Given the description of an element on the screen output the (x, y) to click on. 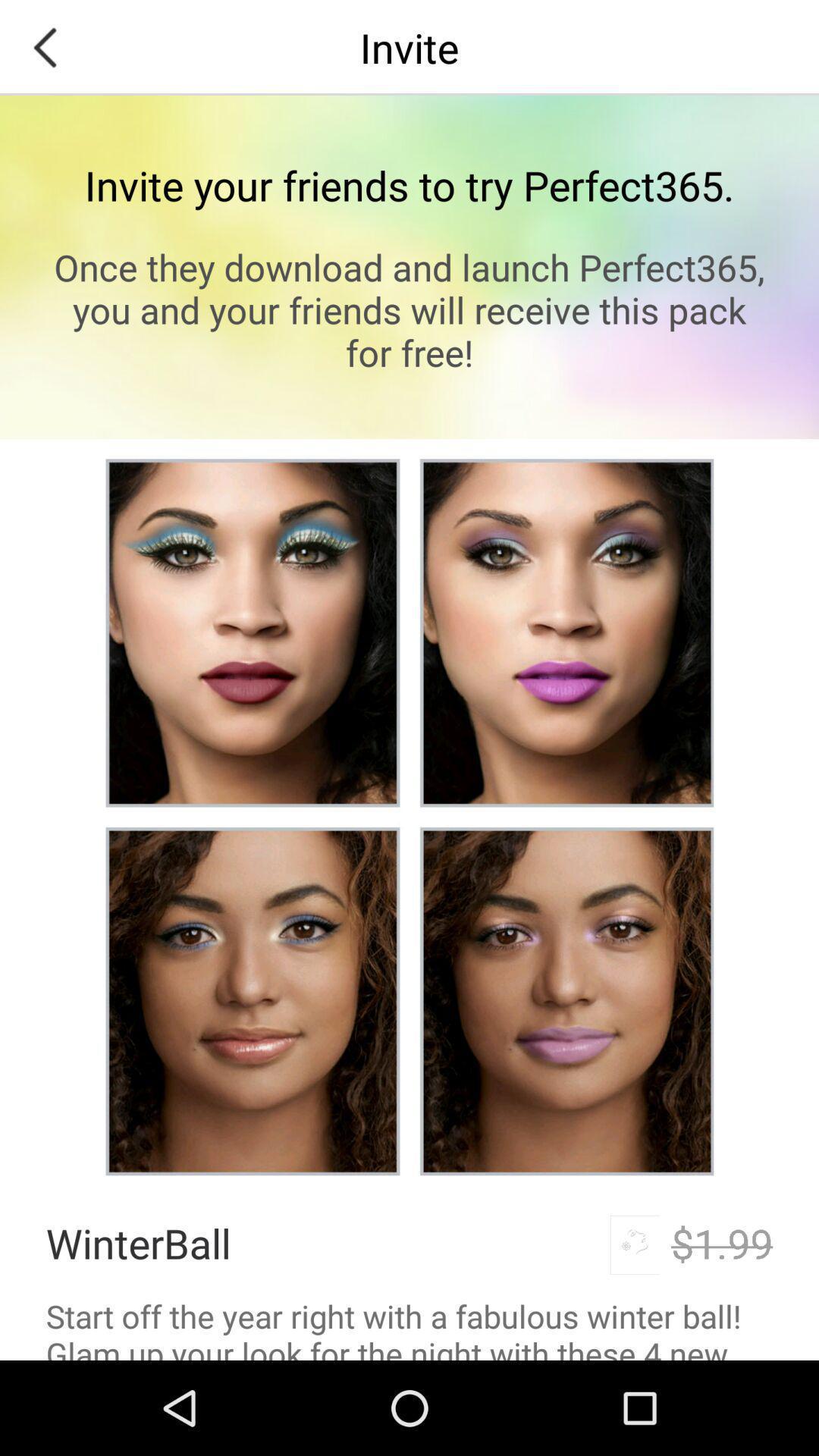
tap the winterball (138, 1242)
